Given the description of an element on the screen output the (x, y) to click on. 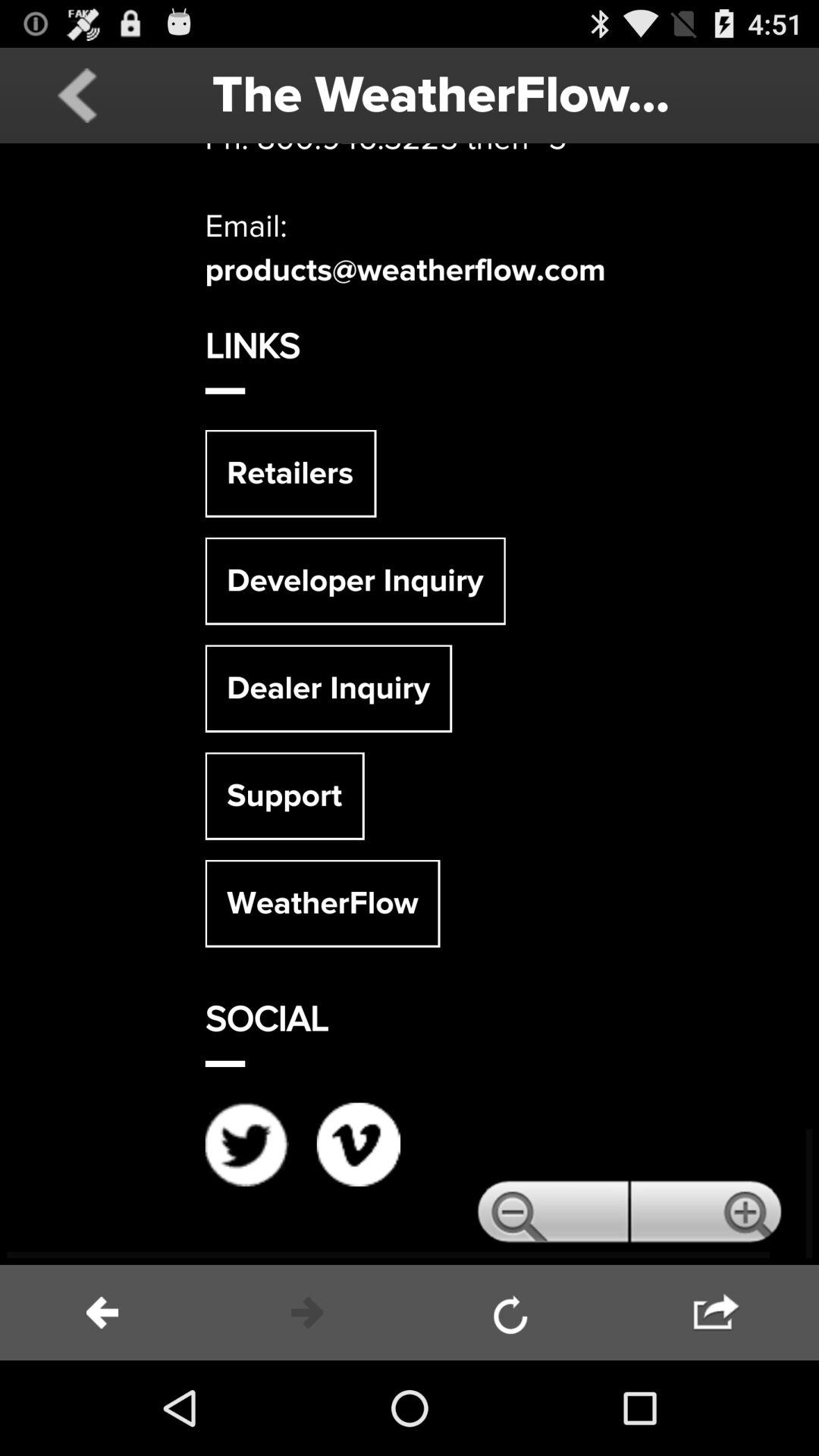
go forward (716, 1312)
